Given the description of an element on the screen output the (x, y) to click on. 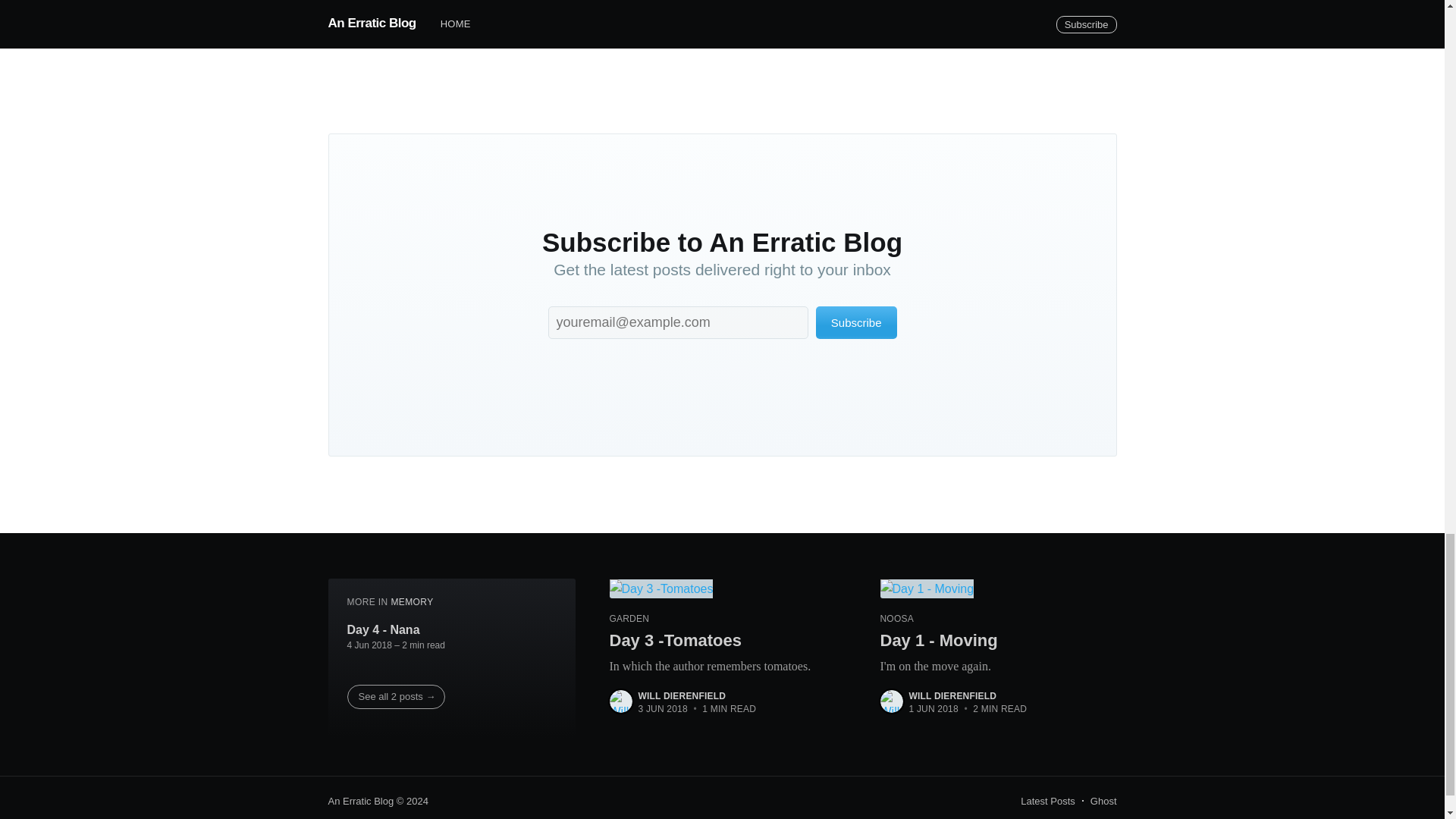
Ghost (1103, 801)
MEMORY (411, 602)
An Erratic Blog (360, 800)
WILL DIERENFIELD (951, 696)
Day 4 - Nana (383, 629)
Latest Posts (999, 643)
WILL DIERENFIELD (1047, 801)
Subscribe (682, 696)
